Given the description of an element on the screen output the (x, y) to click on. 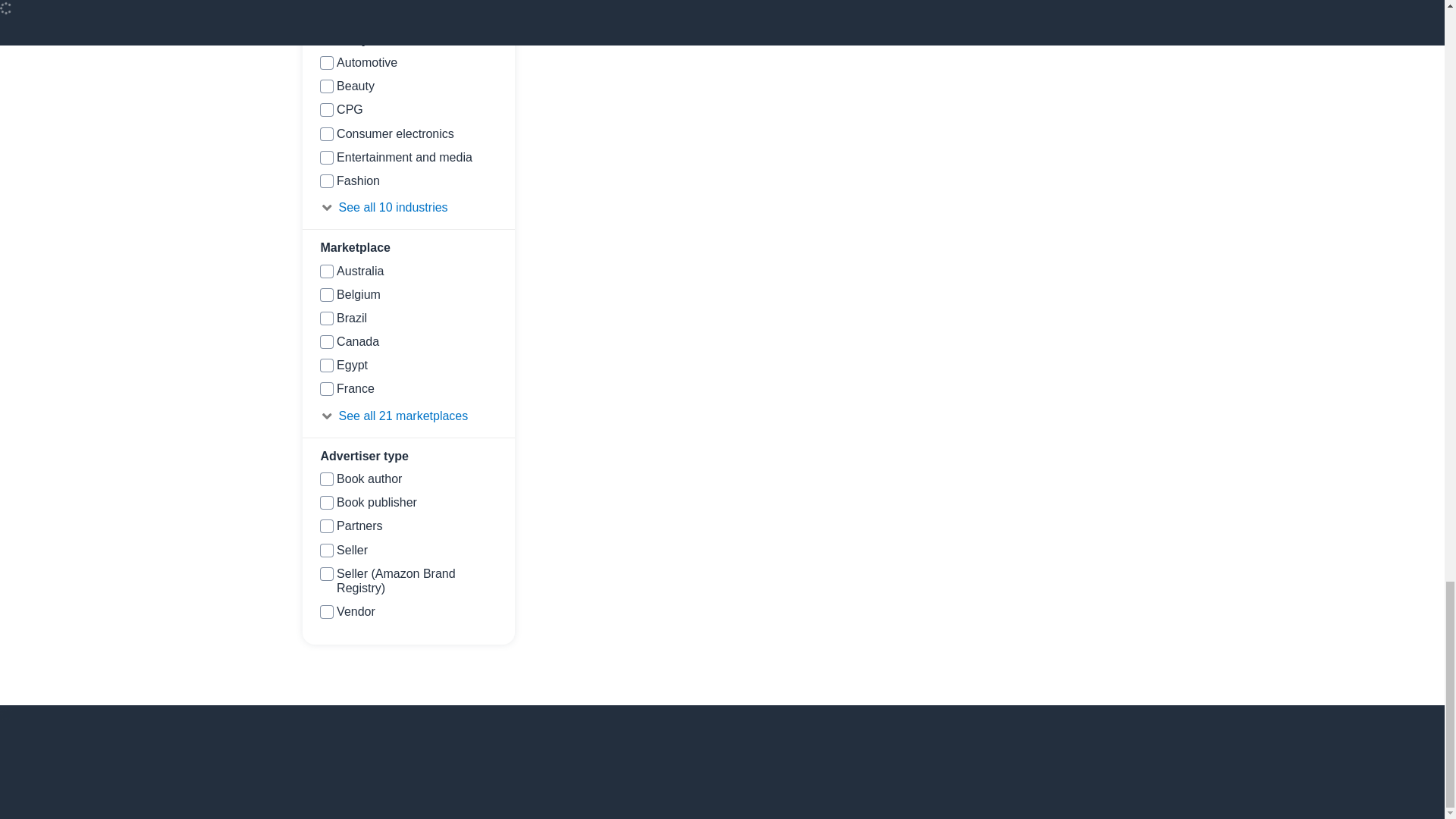
Brazil (325, 318)
See all 13 products (408, 4)
Consumer electronics (325, 133)
Beauty (325, 86)
Automotive (325, 62)
See all 10 industries (408, 208)
CPG (325, 110)
Belgium (325, 295)
Australia (325, 271)
Canada (325, 341)
See all 21 marketplaces (408, 416)
Fashion (325, 181)
Entertainment and media (325, 157)
